Given the description of an element on the screen output the (x, y) to click on. 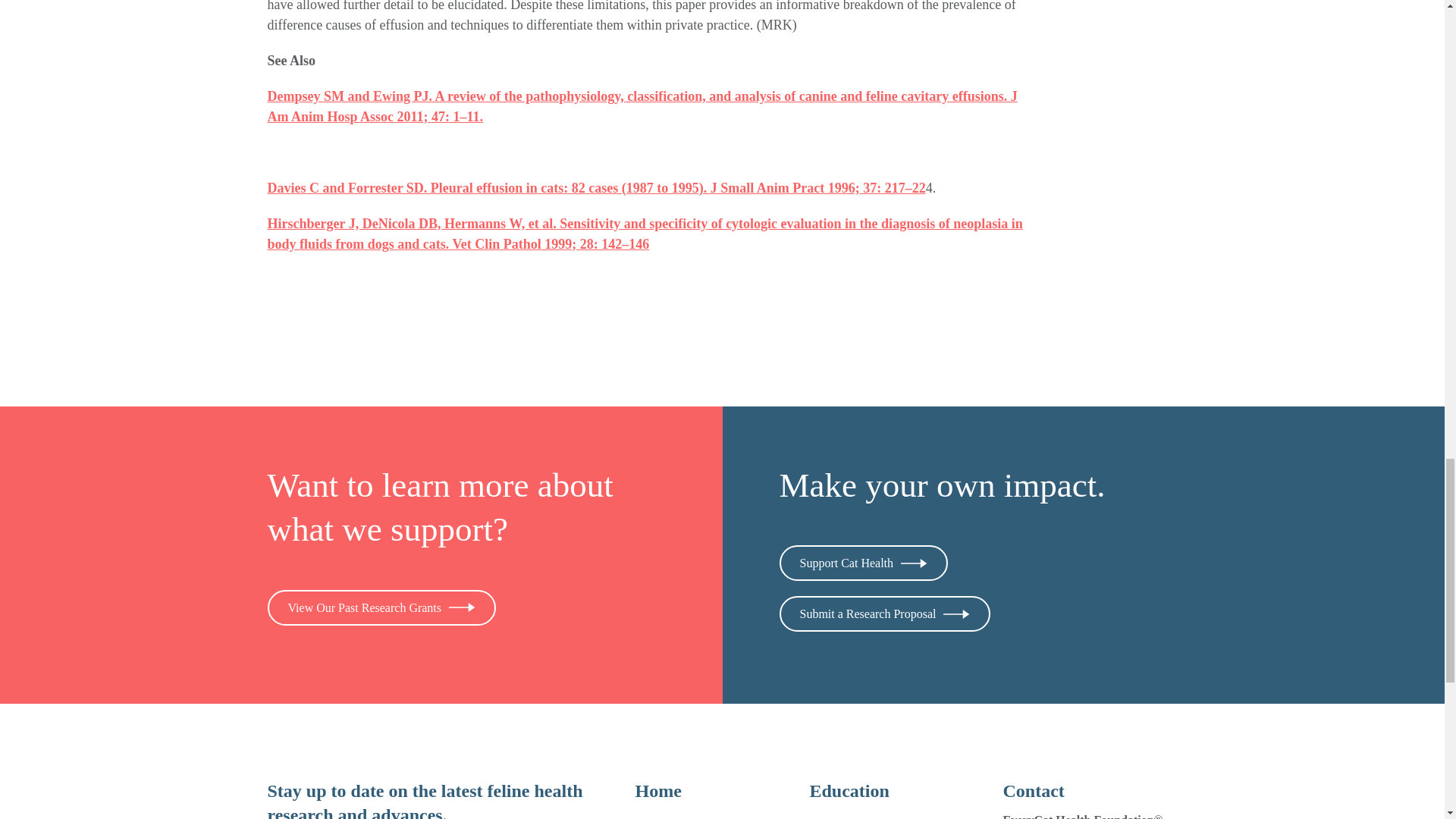
Link to Submit a Research Proposal (884, 613)
Link to View Our Past Research Grants (381, 607)
Link to Support Cat Health (863, 562)
